Given the description of an element on the screen output the (x, y) to click on. 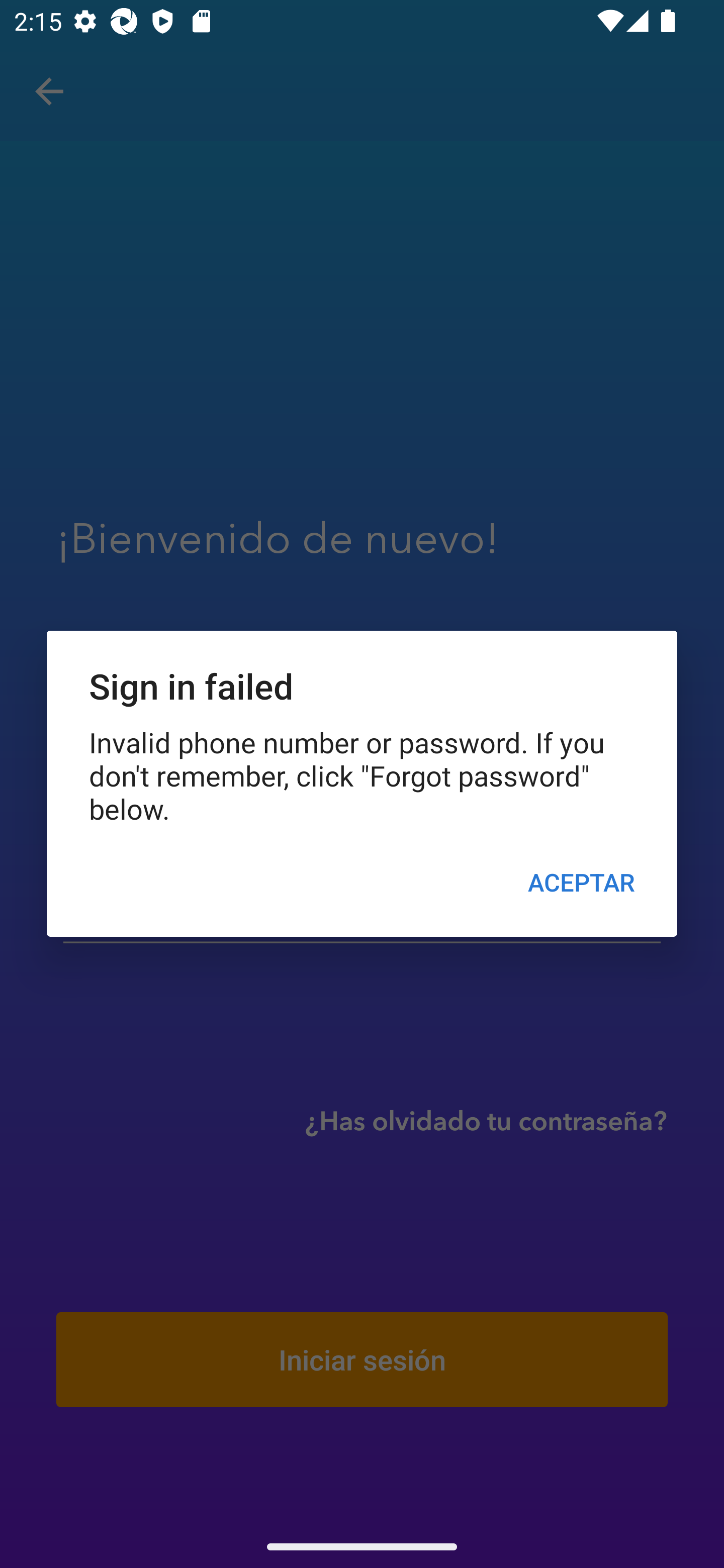
ACEPTAR (580, 881)
